Given the description of an element on the screen output the (x, y) to click on. 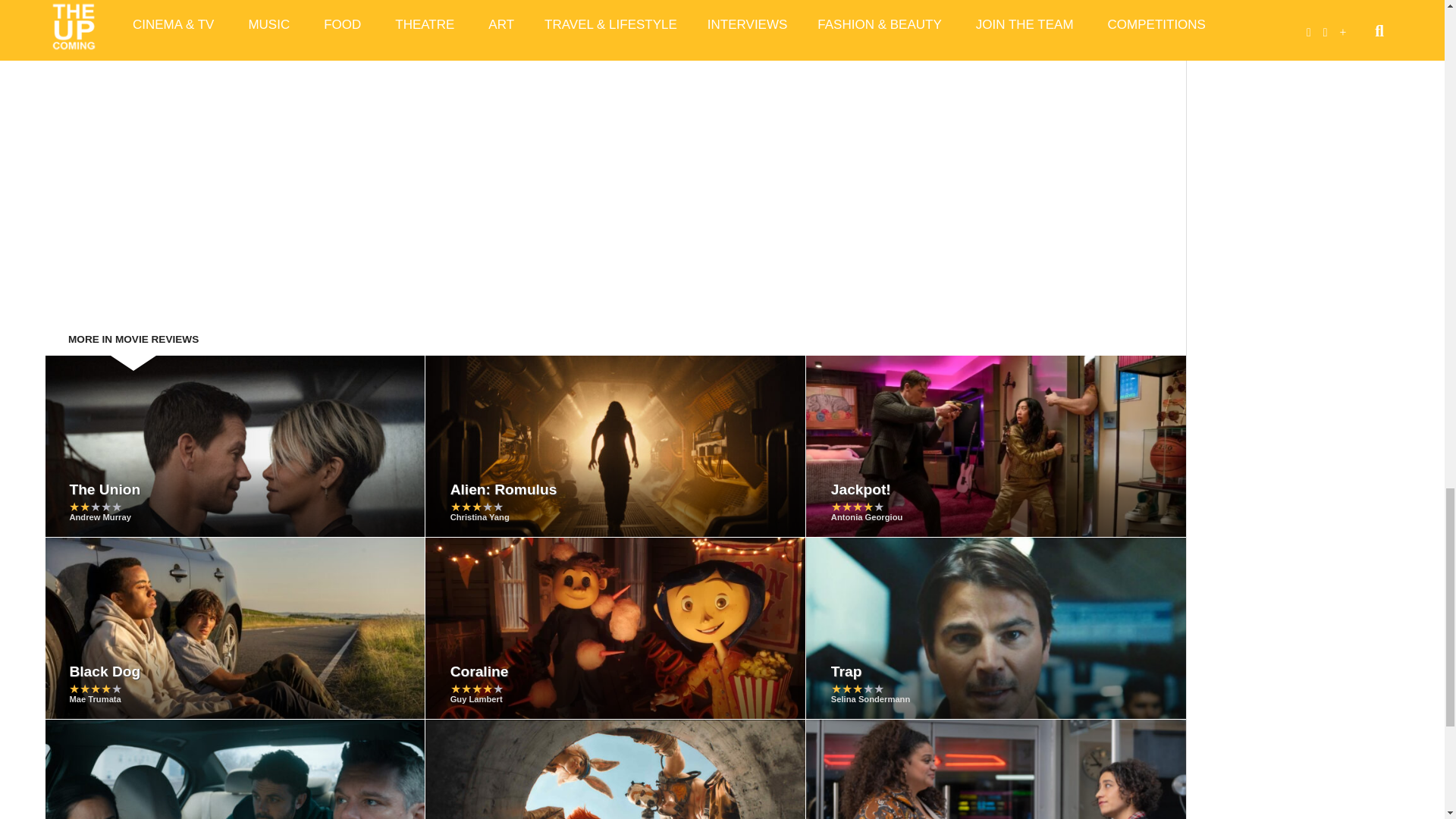
2 out of 5 stars (95, 506)
3 out of 5 stars (476, 506)
4 out of 5 stars (857, 506)
